Given the description of an element on the screen output the (x, y) to click on. 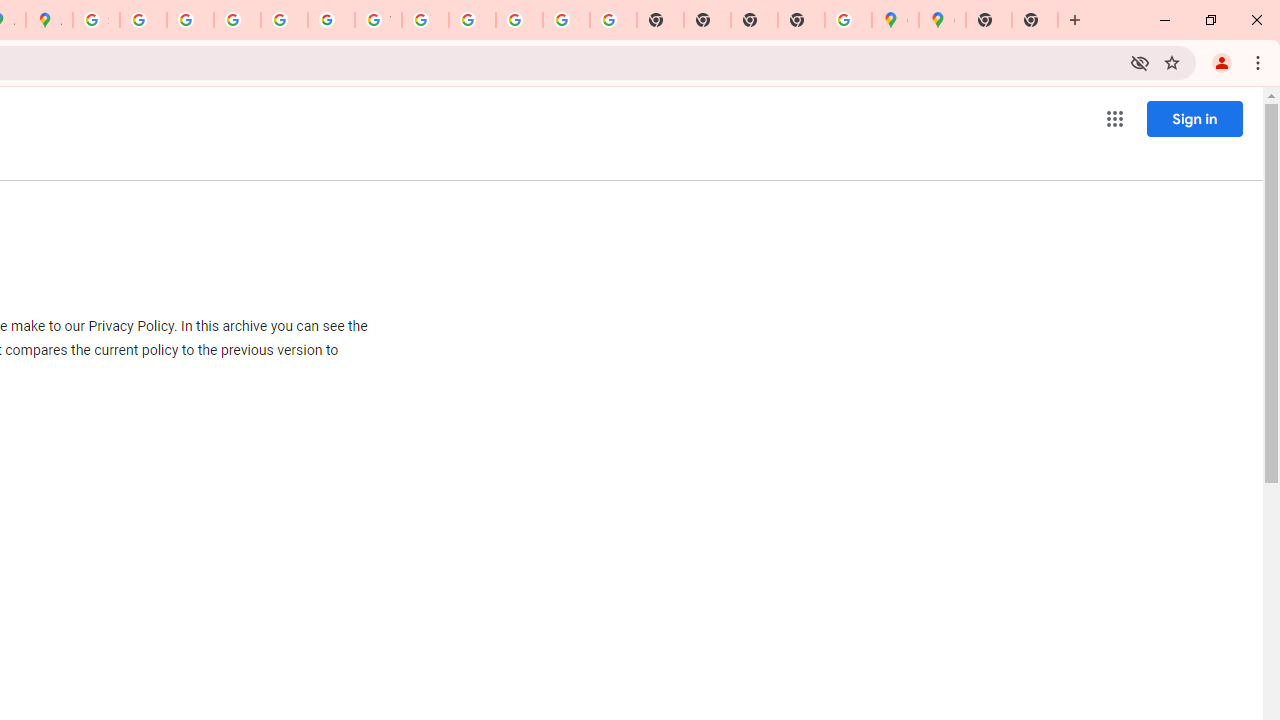
New Tab (801, 20)
New Tab (1035, 20)
Privacy Help Center - Policies Help (189, 20)
Google Maps (942, 20)
